Given the description of an element on the screen output the (x, y) to click on. 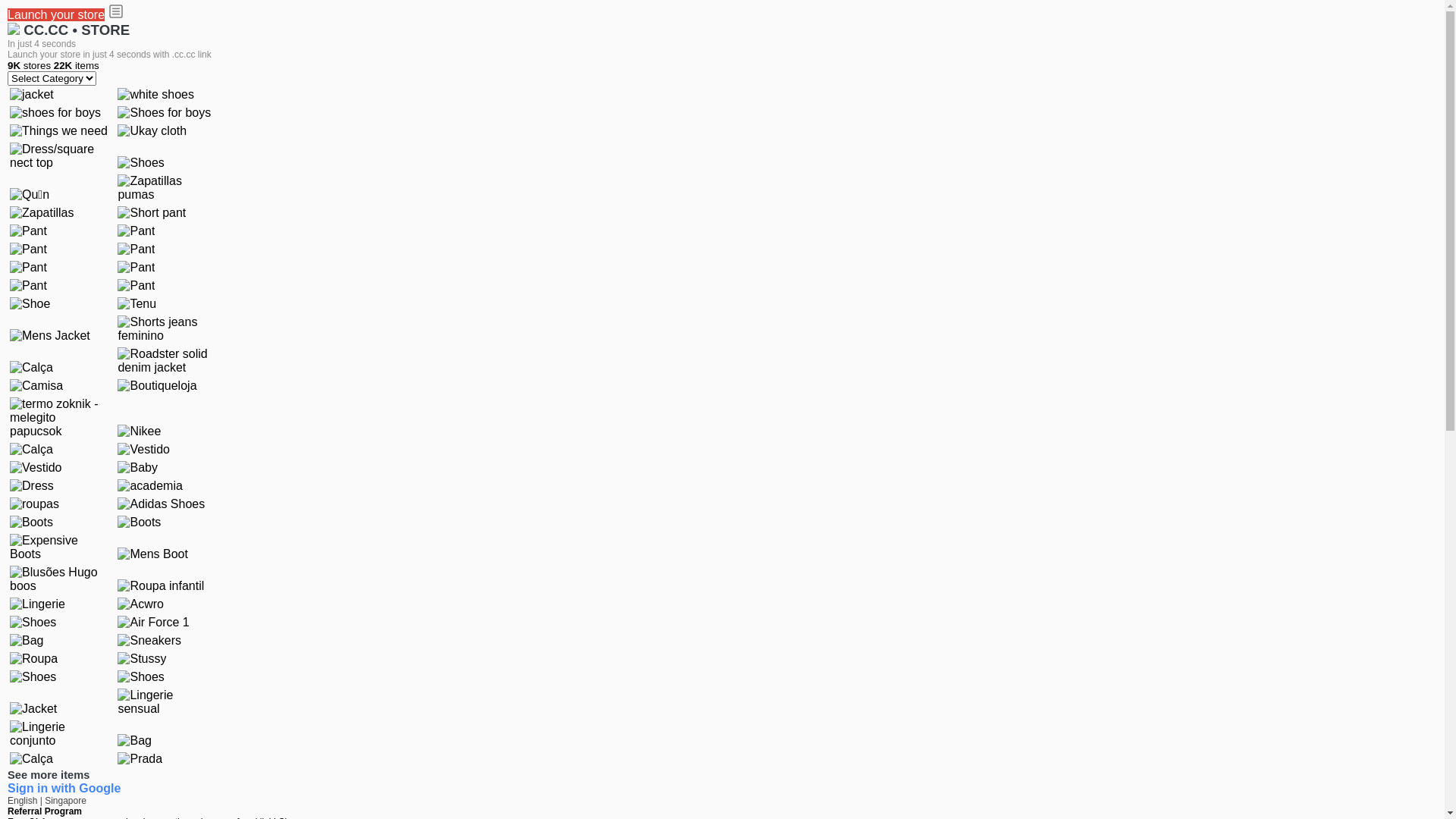
Sign in with Google Element type: text (63, 787)
See more items Element type: text (48, 774)
Pant Element type: hover (135, 249)
Pant Element type: hover (28, 249)
Vestido Element type: hover (143, 449)
Shoes Element type: hover (140, 162)
Lingerie sensual Element type: hover (167, 701)
Baby Element type: hover (136, 467)
Ukay cloth Element type: hover (151, 131)
Sneakers Element type: hover (149, 640)
Boots Element type: hover (31, 522)
Bag Element type: hover (133, 740)
Acwro Element type: hover (140, 604)
Air Force 1 Element type: hover (152, 622)
Singapore Element type: text (65, 800)
Adidas Shoes Element type: hover (160, 504)
Things we need Element type: hover (58, 131)
Vestido Element type: hover (35, 467)
Roupa infantil Element type: hover (160, 586)
Zapatillas Element type: hover (41, 212)
Shoes for boys Element type: hover (163, 112)
Mens Boot Element type: hover (152, 554)
Boots Element type: hover (138, 522)
white shoes Element type: hover (155, 94)
Zapatillas pumas Element type: hover (167, 187)
Roupa Element type: hover (33, 658)
Expensive Boots Element type: hover (59, 547)
Camisa Element type: hover (35, 385)
Lingerie Element type: hover (37, 604)
shoes for boys Element type: hover (54, 112)
Pant Element type: hover (28, 231)
English Element type: text (23, 800)
Shoes Element type: hover (32, 622)
Nikee Element type: hover (138, 431)
Shoes Element type: hover (140, 677)
Pant Element type: hover (135, 267)
Pant Element type: hover (28, 267)
Dress/square nect top Element type: hover (59, 155)
termo zoknik - melegito papucsok Element type: hover (59, 417)
Roadster solid denim jacket Element type: hover (167, 360)
Lingerie conjunto Element type: hover (59, 733)
academia Element type: hover (149, 485)
Shoes Element type: hover (32, 677)
Jacket Element type: hover (32, 708)
Dress Element type: hover (31, 485)
Boutiqueloja Element type: hover (156, 385)
Shoe Element type: hover (29, 303)
Launch your store Element type: text (55, 14)
Stussy Element type: hover (141, 658)
Mens Jacket Element type: hover (49, 335)
Prada Element type: hover (139, 758)
Bag Element type: hover (26, 640)
Tenu Element type: hover (136, 303)
jacket Element type: hover (31, 94)
Short pant Element type: hover (151, 212)
Pant Element type: hover (135, 231)
roupas Element type: hover (34, 504)
Pant Element type: hover (28, 285)
Shorts jeans feminino Element type: hover (167, 328)
Pant Element type: hover (135, 285)
